Given the description of an element on the screen output the (x, y) to click on. 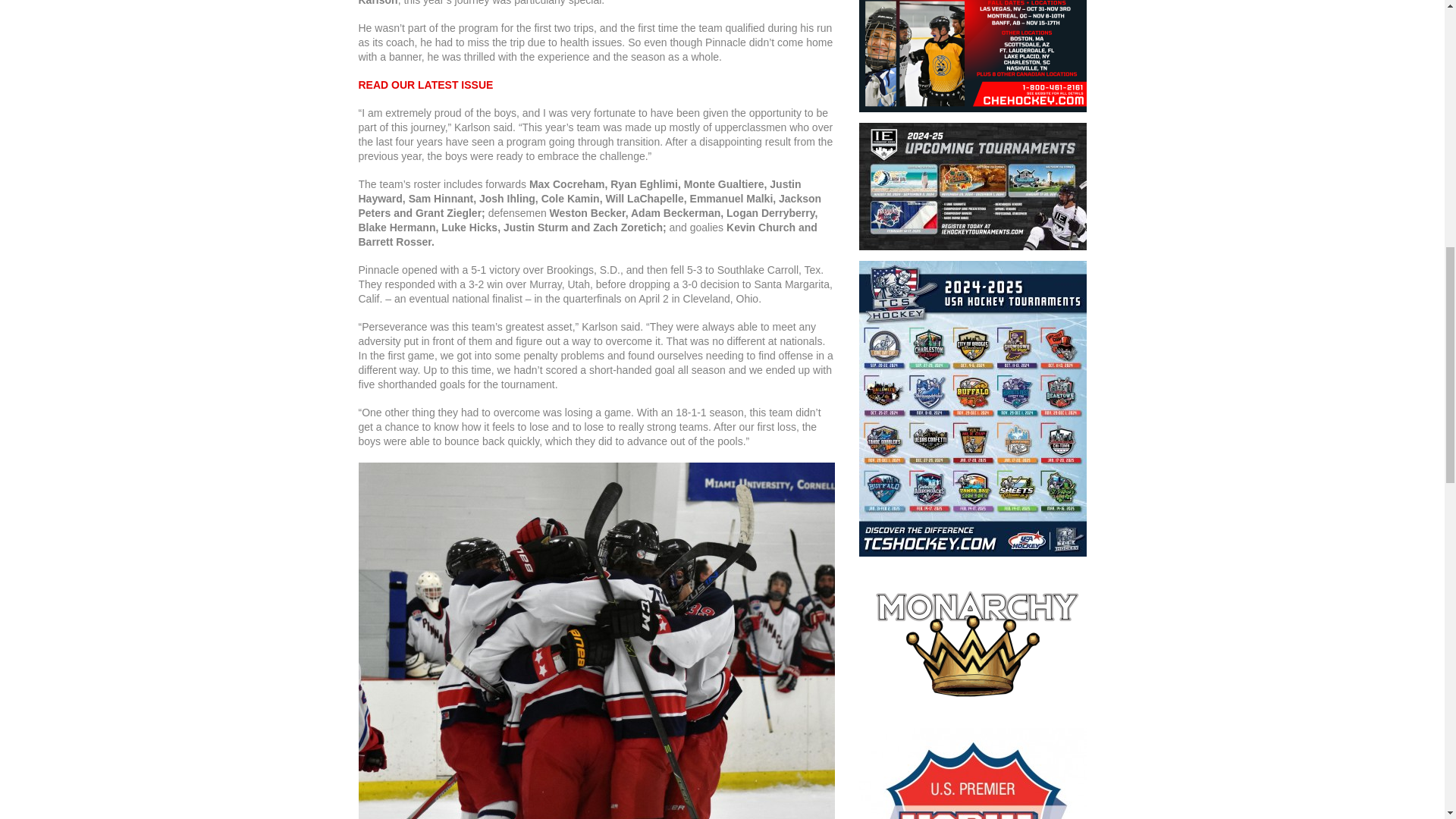
READ OUR LATEST ISSUE (425, 84)
